Given the description of an element on the screen output the (x, y) to click on. 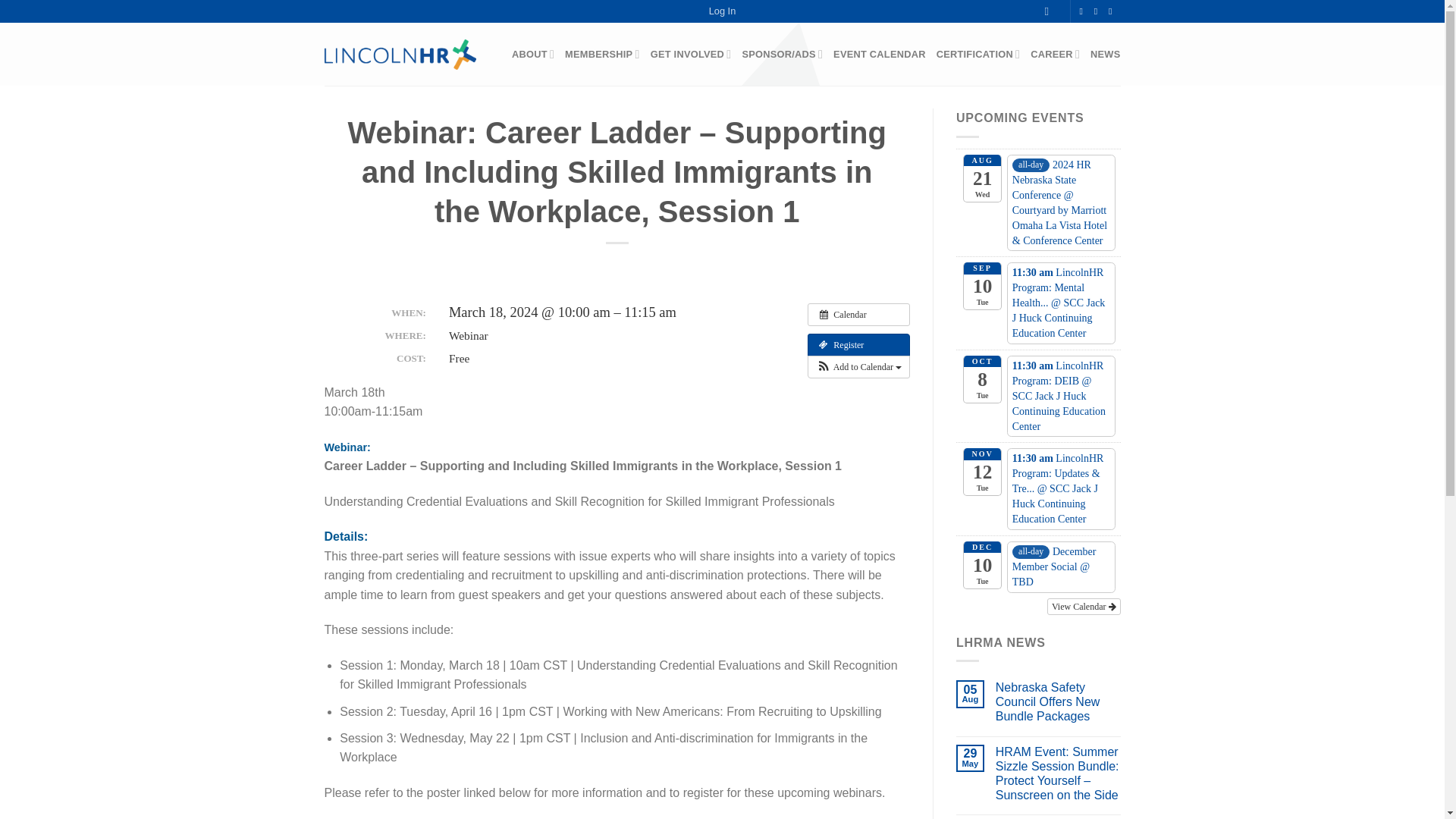
GET INVOLVED (691, 54)
Log In (722, 11)
Register (859, 344)
EVENT CALENDAR (879, 54)
ABOUT (533, 54)
MEMBERSHIP (602, 54)
LincolnHR - Lincoln Human Resource Management Association (400, 53)
CERTIFICATION (978, 54)
View all events (859, 314)
